Given the description of an element on the screen output the (x, y) to click on. 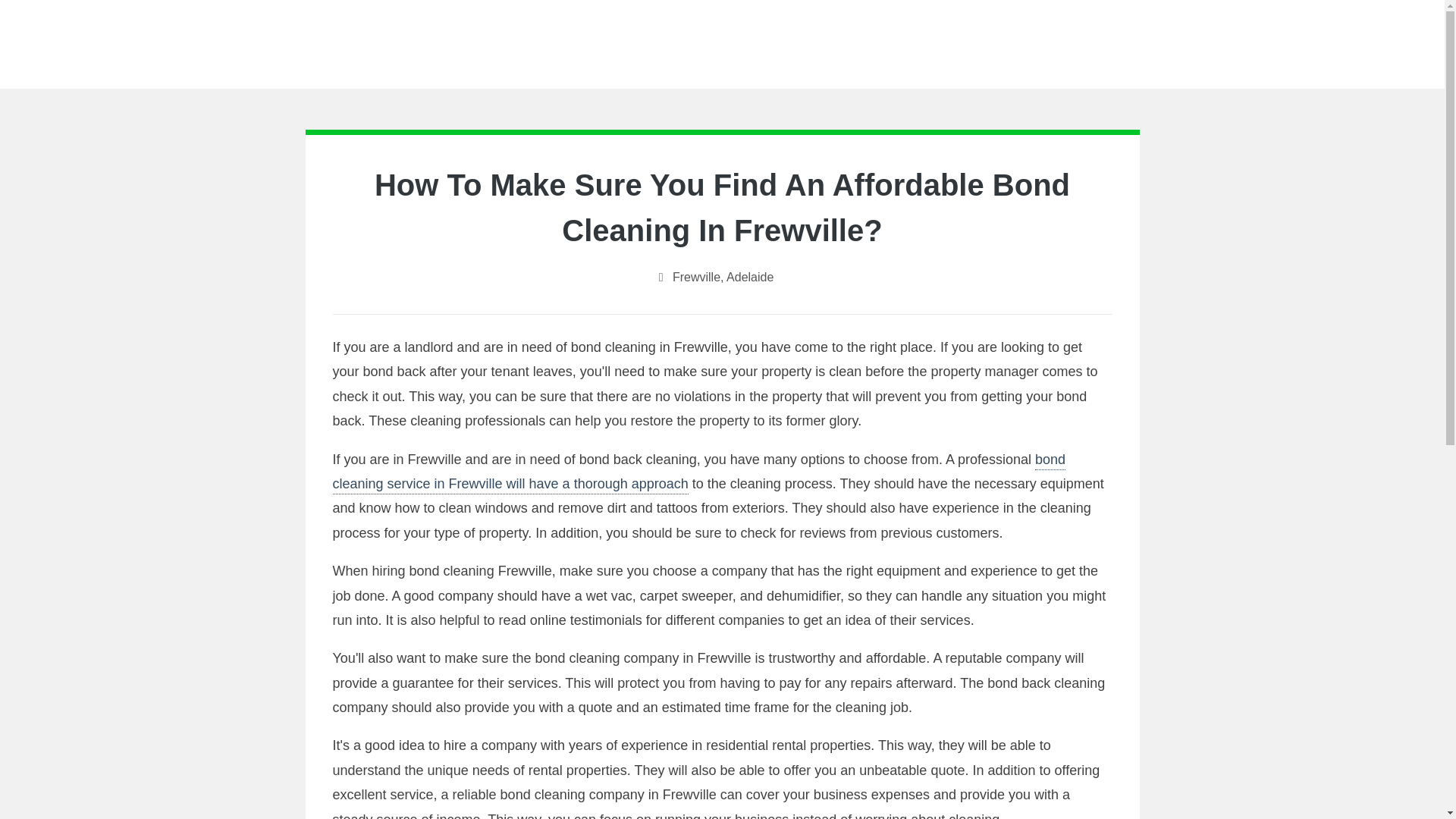
Frewville (696, 277)
Hair Forever (722, 40)
Adelaide (749, 277)
